Given the description of an element on the screen output the (x, y) to click on. 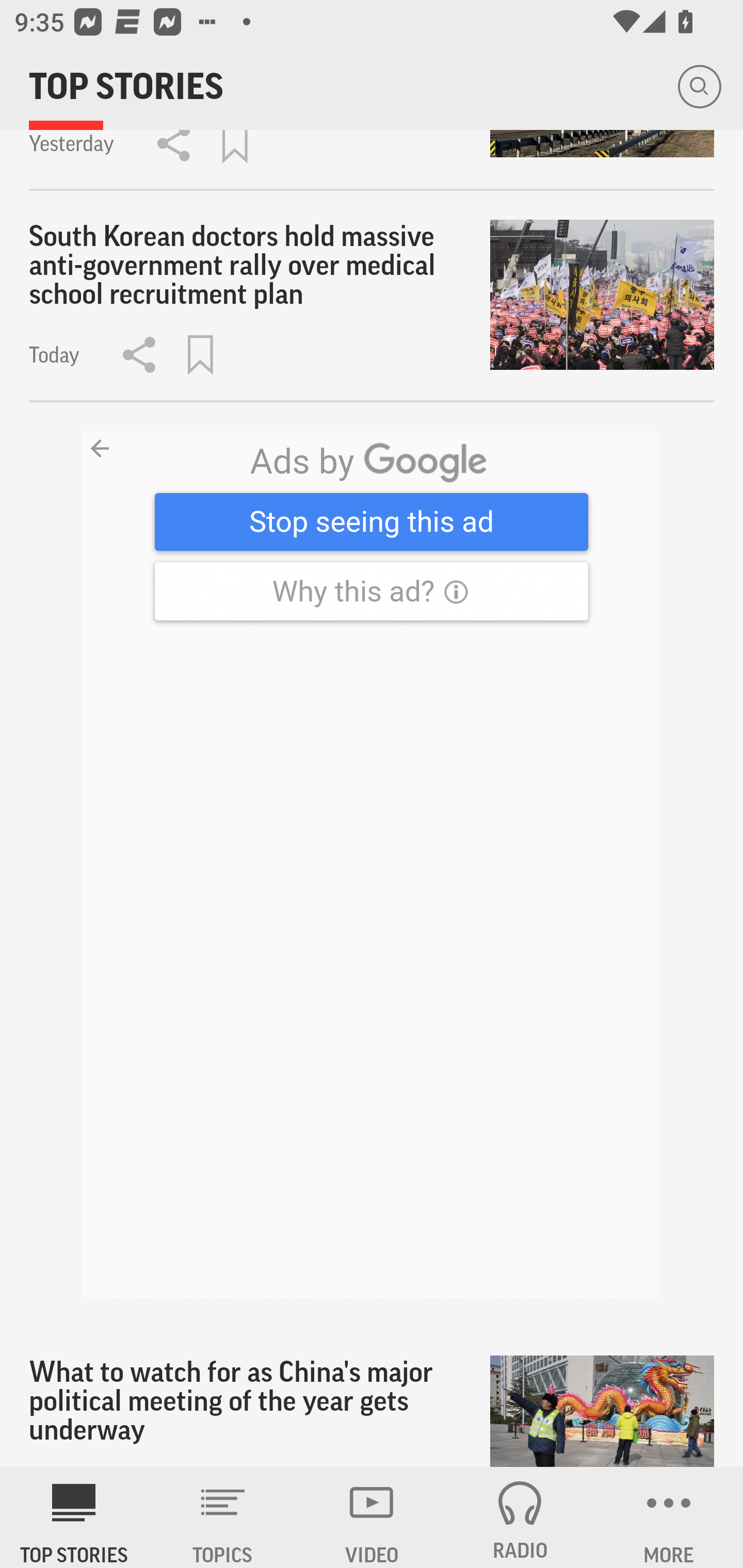
AP News TOP STORIES (74, 1517)
TOPICS (222, 1517)
VIDEO (371, 1517)
RADIO (519, 1517)
MORE (668, 1517)
